Given the description of an element on the screen output the (x, y) to click on. 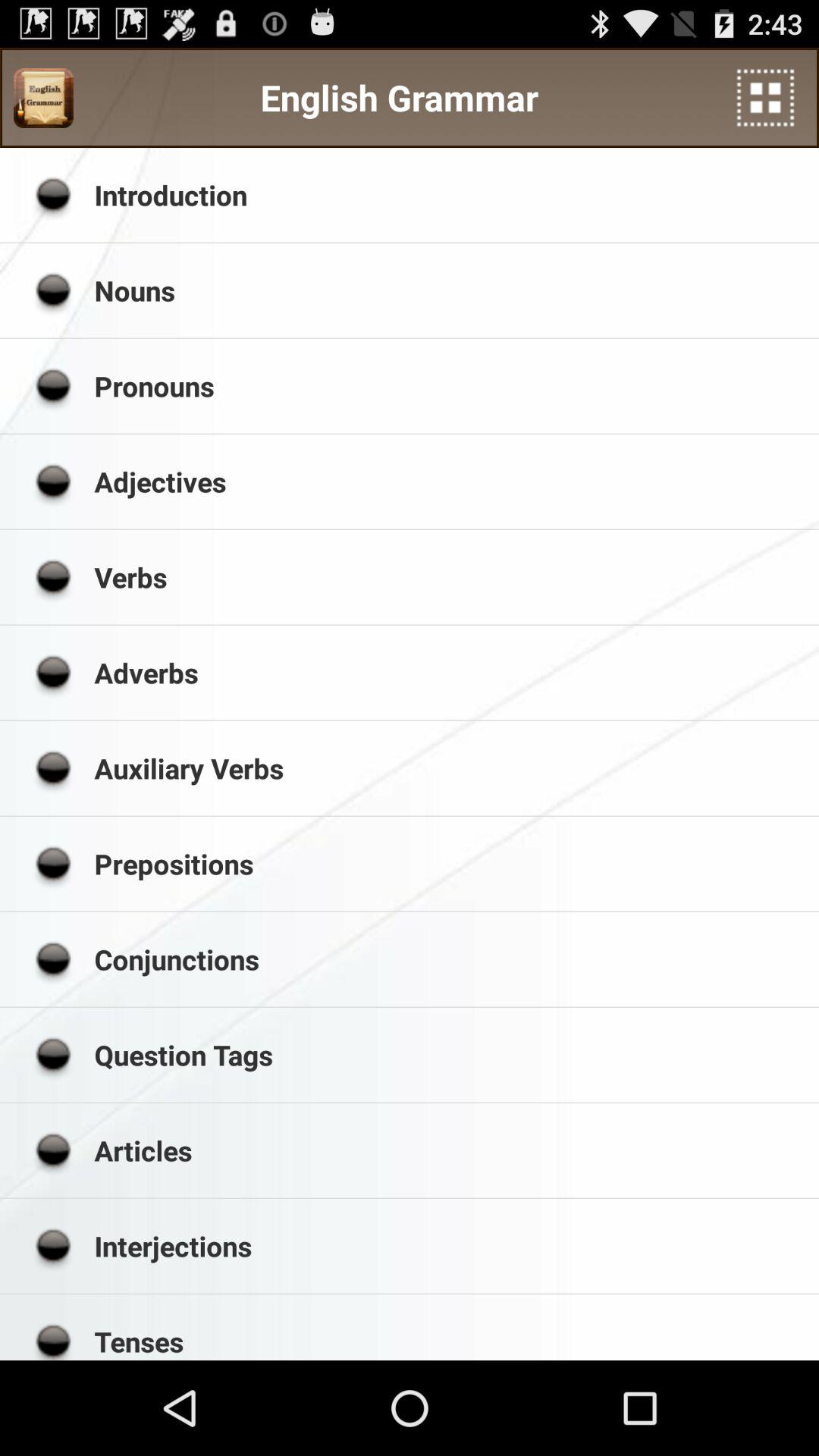
select the question tags (451, 1054)
